Given the description of an element on the screen output the (x, y) to click on. 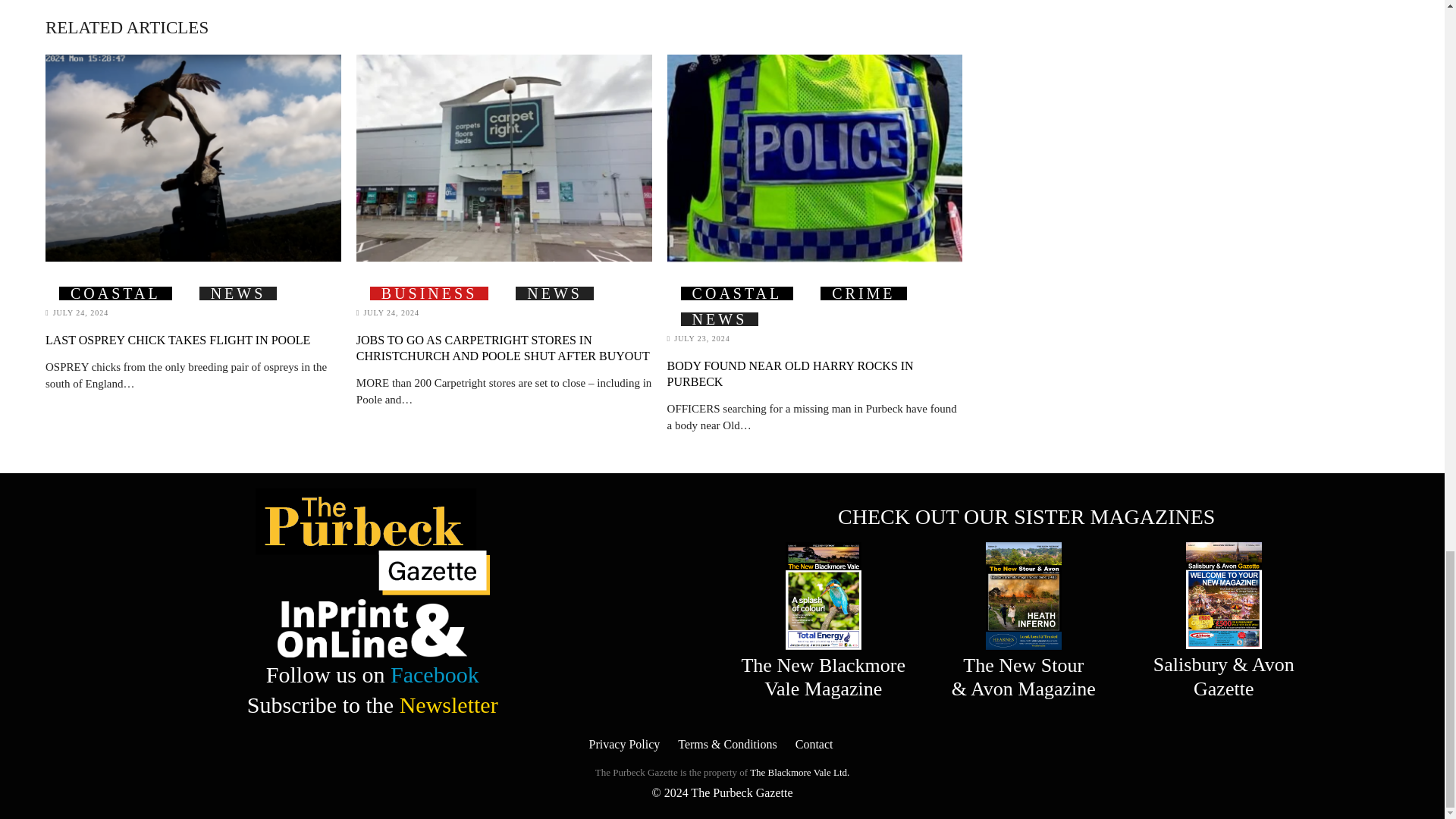
Body found near Old Harry Rocks in Purbeck (814, 157)
Last osprey chick takes flight in Poole (192, 157)
